Given the description of an element on the screen output the (x, y) to click on. 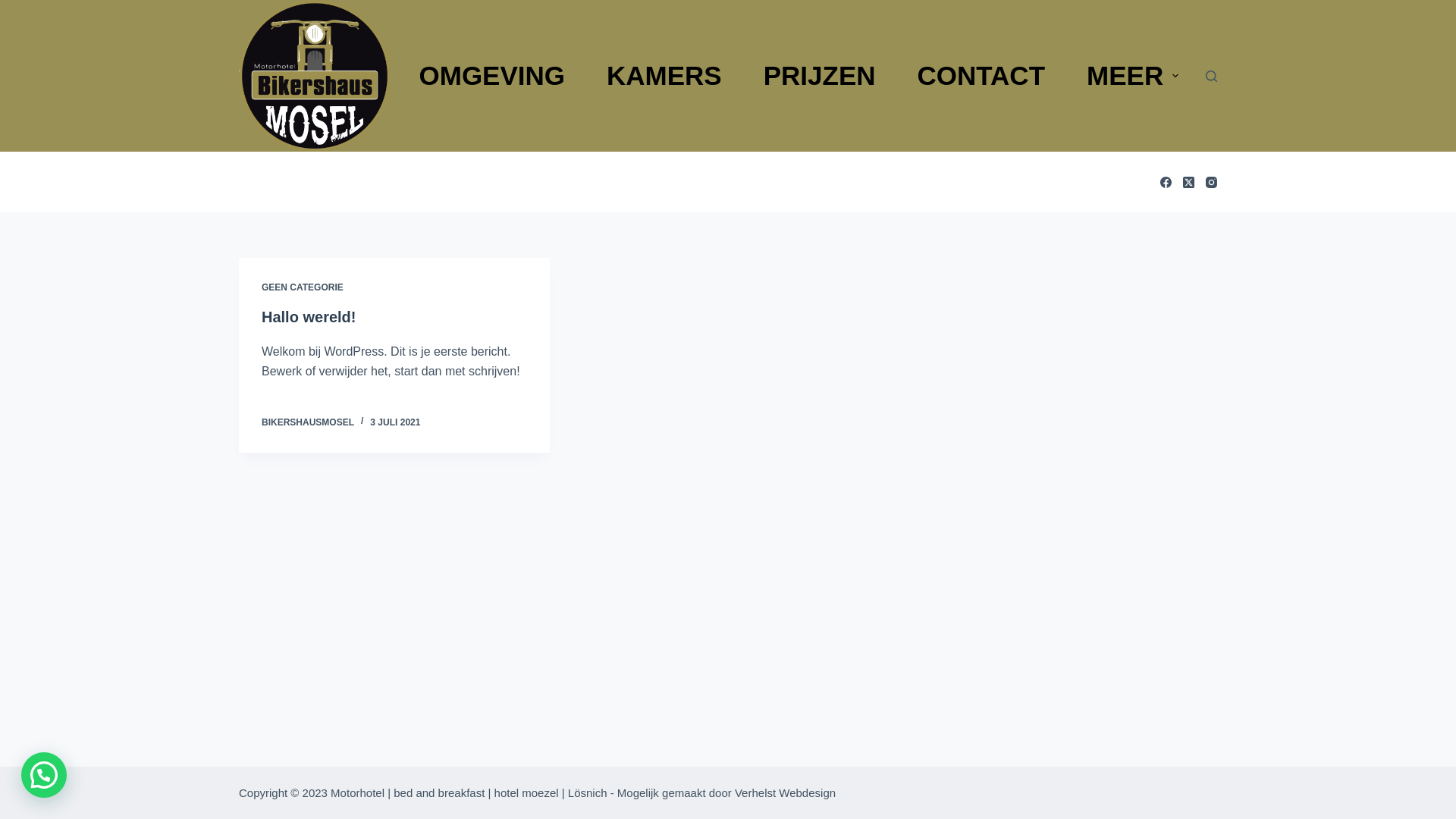
CONTACT Element type: text (981, 75)
GEEN CATEGORIE Element type: text (302, 287)
BIKERSHAUSMOSEL Element type: text (307, 422)
Hallo wereld! Element type: text (308, 316)
OMGEVING Element type: text (492, 75)
MEER Element type: text (1132, 75)
PRIJZEN Element type: text (819, 75)
Ga naar de inhoud Element type: text (15, 7)
KAMERS Element type: text (664, 75)
